Given the description of an element on the screen output the (x, y) to click on. 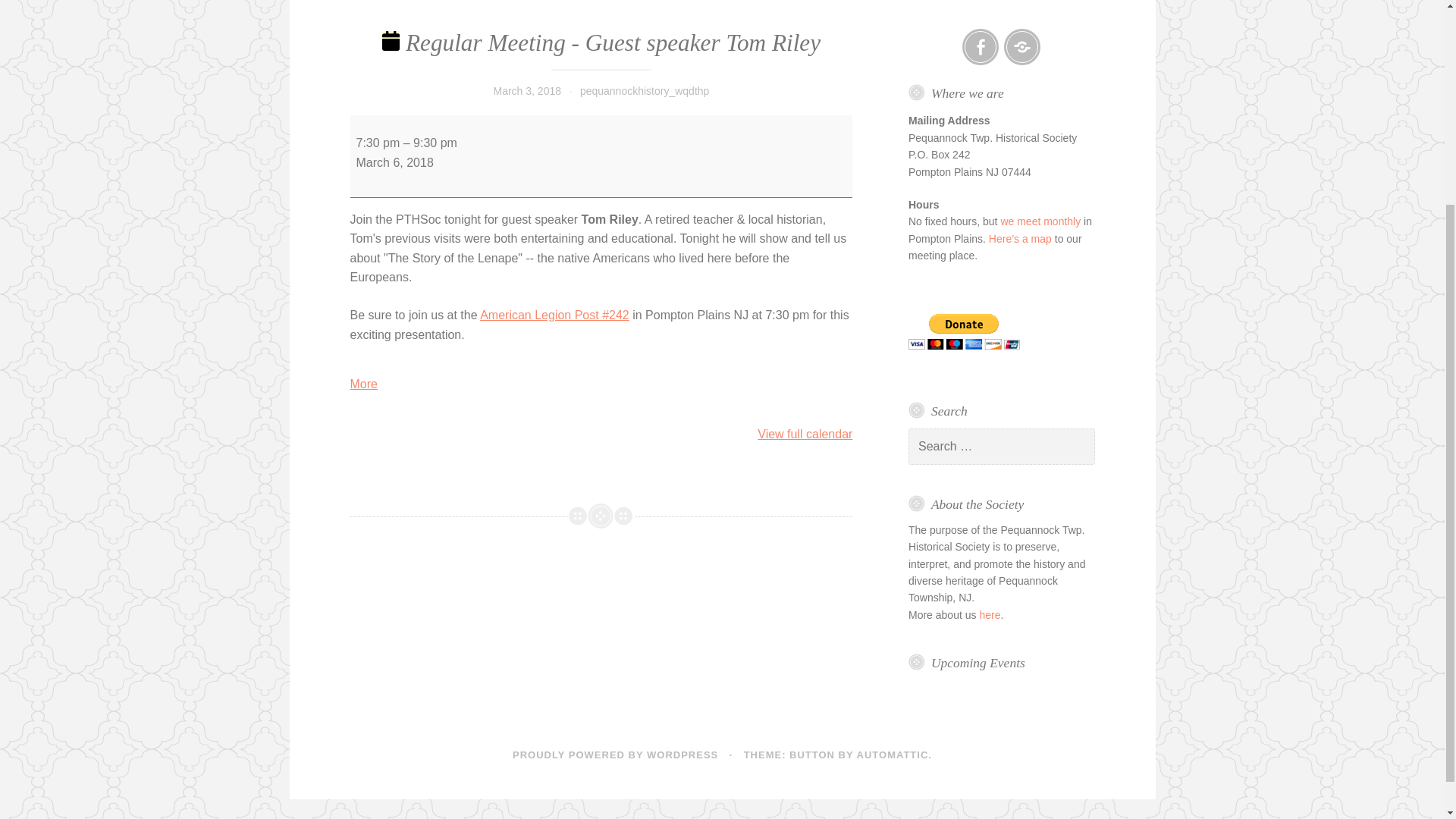
here (989, 614)
we meet monthly (1040, 221)
Contact the Society (1022, 46)
PROUDLY POWERED BY WORDPRESS (614, 754)
2018-03-06T19:30:00-04:00 (378, 142)
AUTOMATTIC (892, 754)
2018-03-06T19:30:00-04:00 (394, 162)
2018-03-06T21:30:00-04:00 (435, 142)
Pequannock History on Facebook (980, 46)
View full calendar (804, 433)
March 3, 2018 (526, 91)
Find us on Facebook (980, 46)
